Given the description of an element on the screen output the (x, y) to click on. 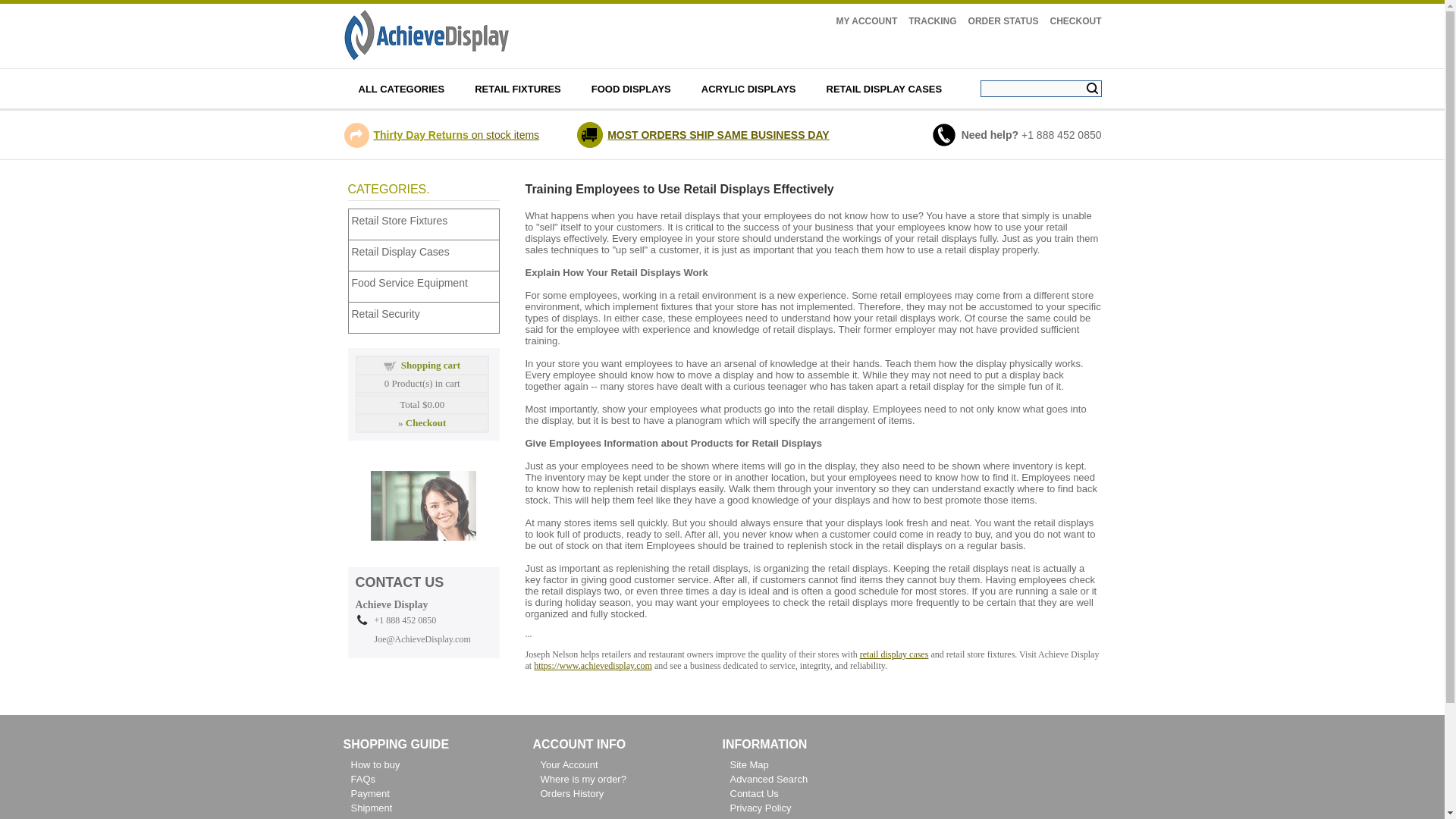
ORDER STATUS (1003, 20)
MY ACCOUNT (866, 20)
ALL CATEGORIES (401, 88)
FAQs (362, 778)
How to buy (374, 764)
Retail Store Fixtures (427, 220)
RETAIL DISPLAY CASES (884, 88)
RETAIL FIXTURES (518, 88)
FOOD DISPLAYS (630, 88)
ACRYLIC DISPLAYS (747, 88)
MOST ORDERS SHIP SAME BUSINESS DAY (718, 134)
Retail Display Cases (427, 251)
CHECKOUT (1074, 20)
Thirty Day Returns on stock items (455, 134)
Shipment (370, 808)
